Given the description of an element on the screen output the (x, y) to click on. 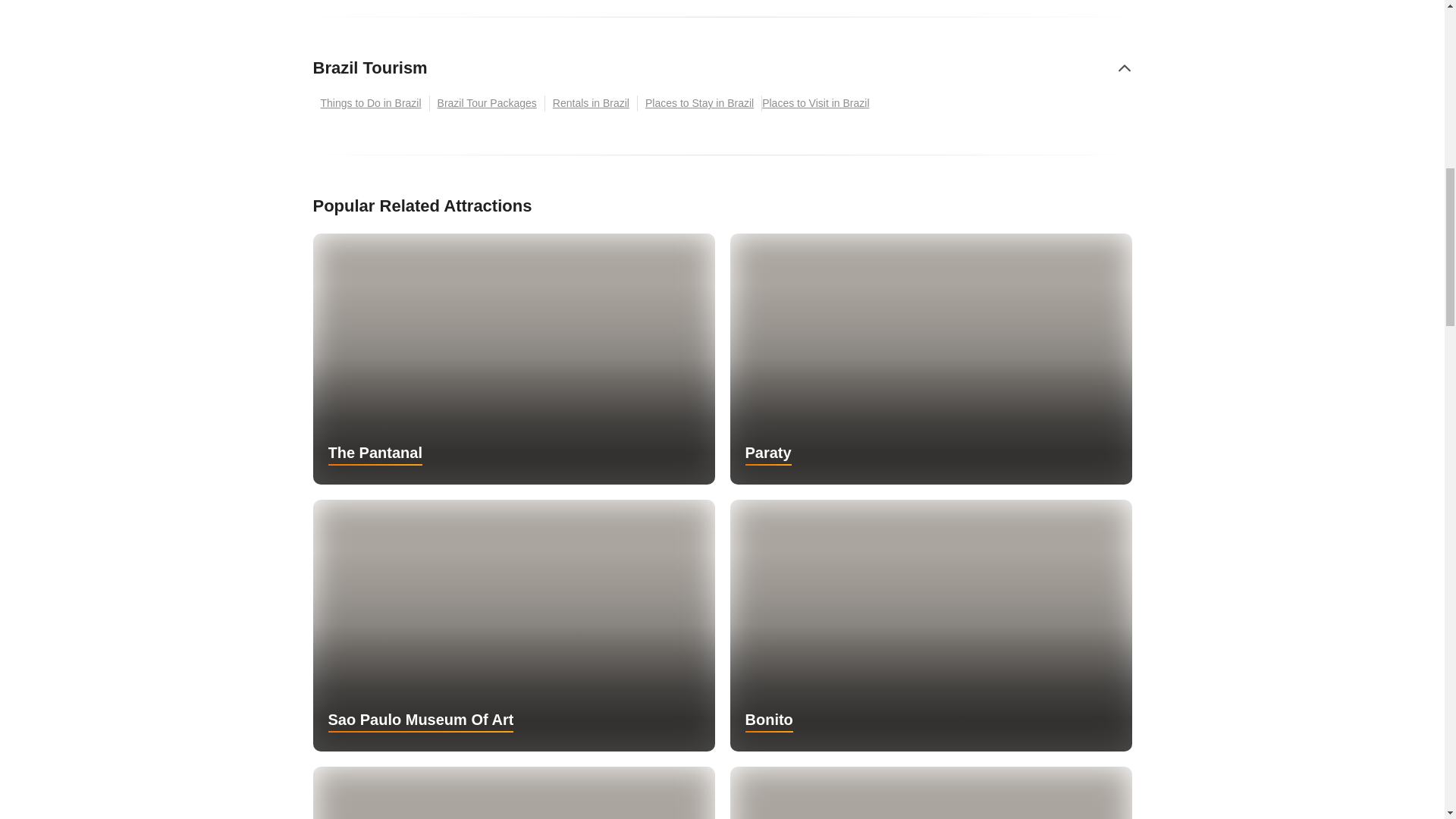
Brazil Tour Packages (486, 103)
Rentals in Brazil (590, 103)
Chapada Dos Veadeiros National Park (513, 792)
Paraty (930, 358)
Bonito (930, 625)
The Pantanal (513, 358)
Lencois National Park (930, 792)
Places to Visit in Brazil (818, 103)
Things to Do in Brazil (371, 103)
Sao Paulo Museum Of Art (513, 625)
